Given the description of an element on the screen output the (x, y) to click on. 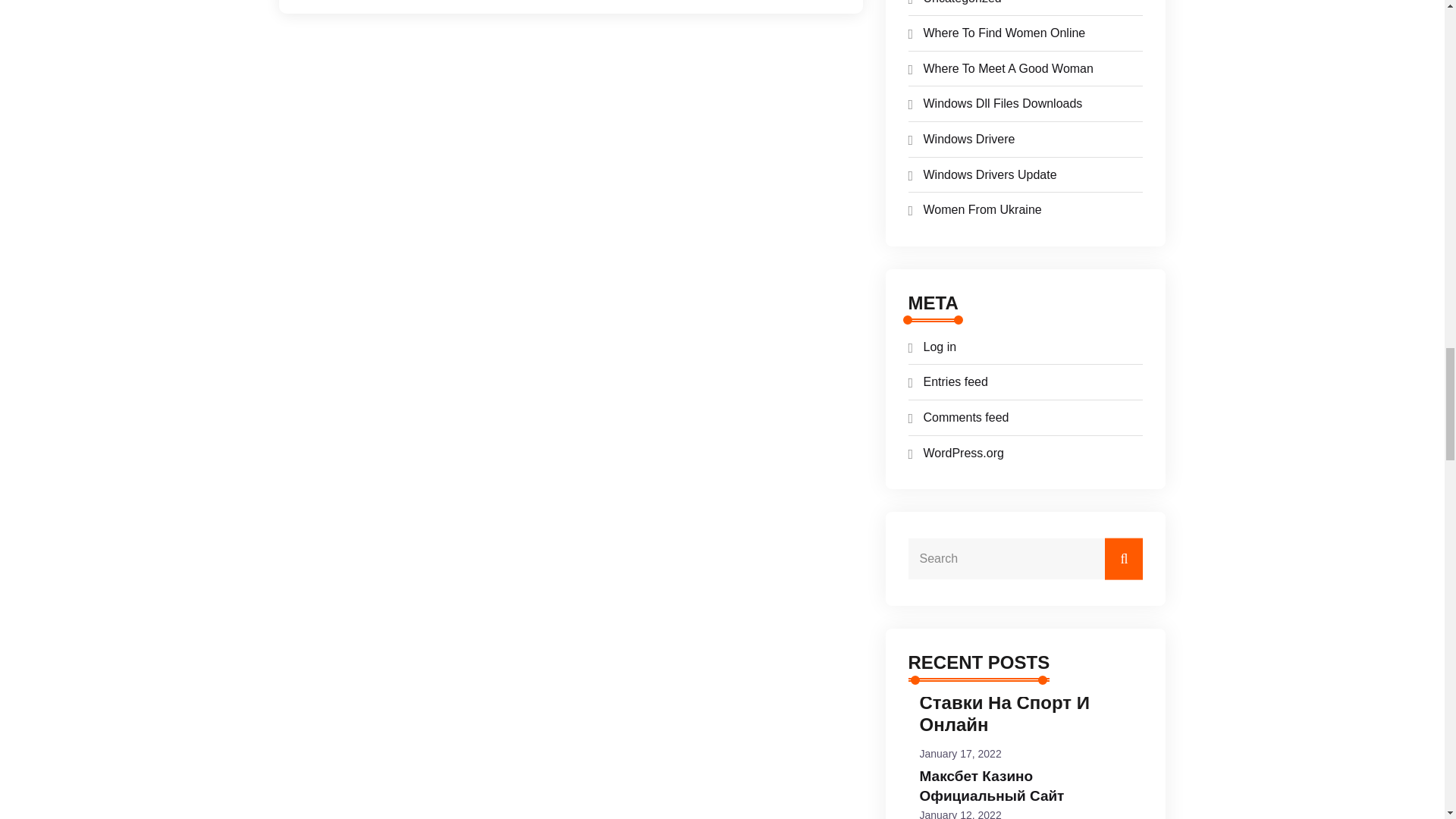
Search for: (1025, 558)
